Given the description of an element on the screen output the (x, y) to click on. 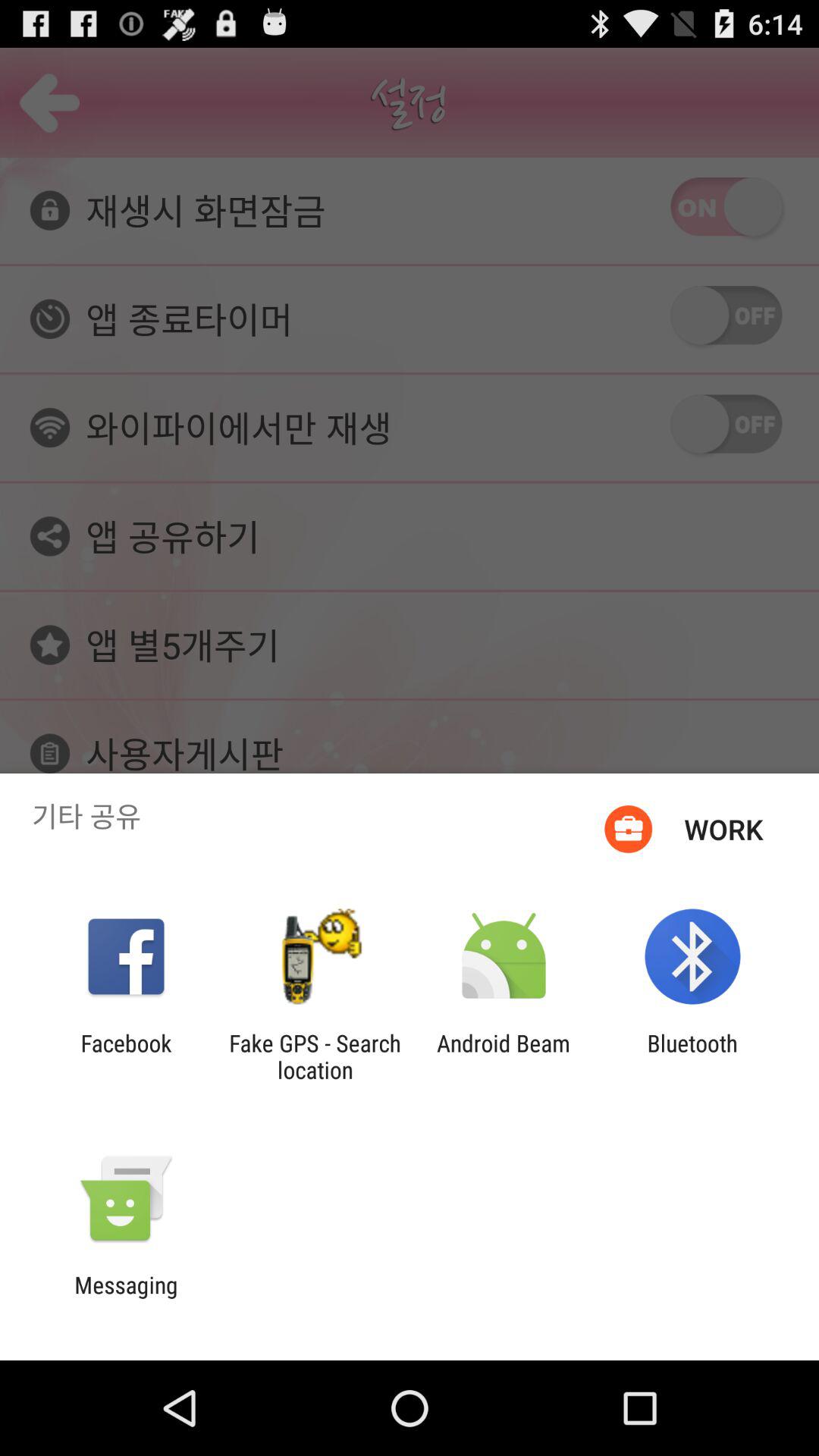
turn on the app to the right of the facebook item (314, 1056)
